Given the description of an element on the screen output the (x, y) to click on. 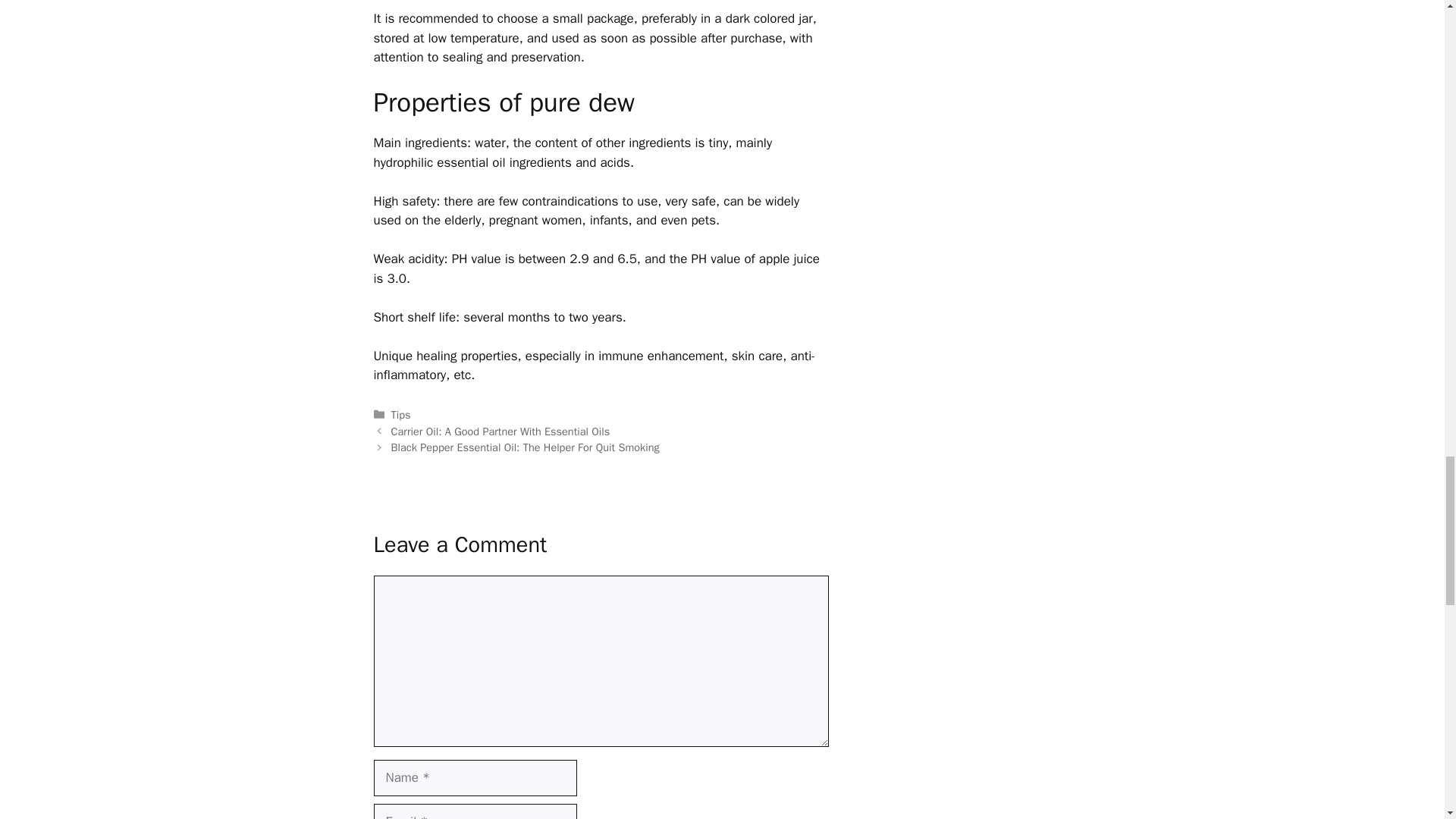
Carrier Oil: A Good Partner With Essential Oils (500, 431)
Black Pepper Essential Oil: The Helper For Quit Smoking (525, 447)
Tips (400, 414)
